Given the description of an element on the screen output the (x, y) to click on. 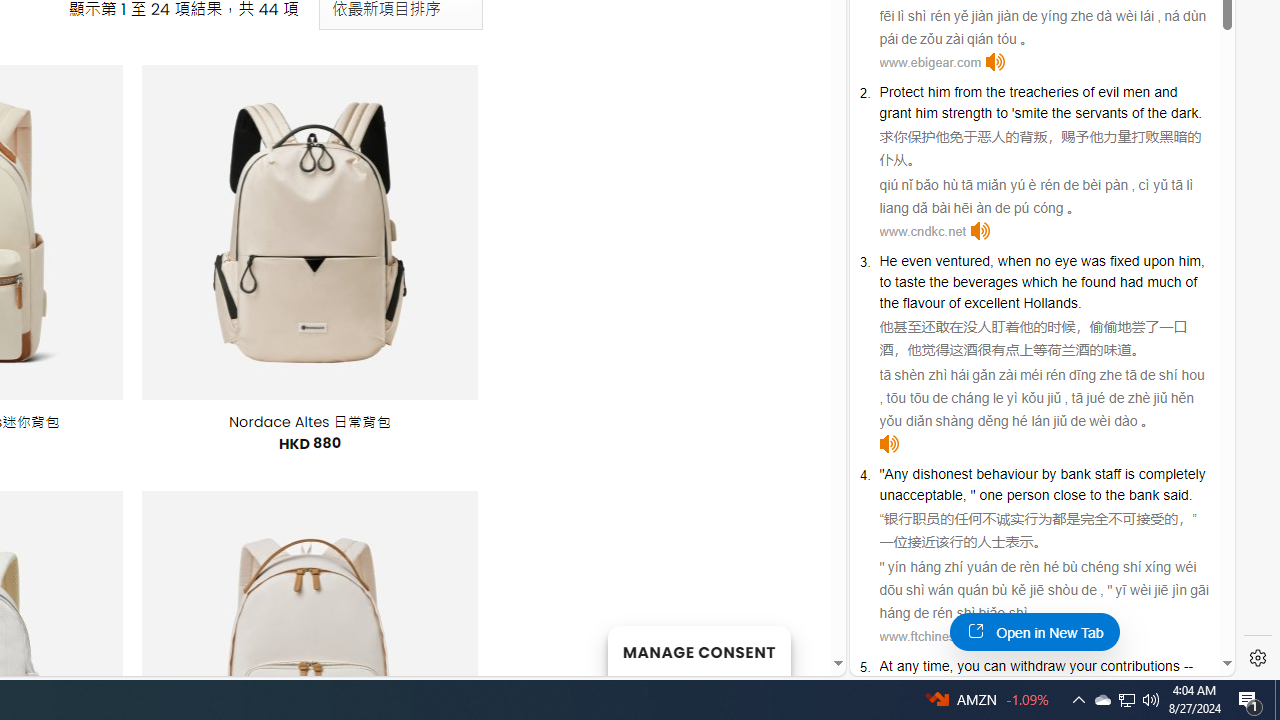
www.ebigear.com (930, 61)
behaviour (1006, 473)
no (1042, 260)
and (1165, 92)
- (1185, 665)
. (1189, 494)
dark (1184, 112)
any (908, 665)
bank (1143, 494)
